Given the description of an element on the screen output the (x, y) to click on. 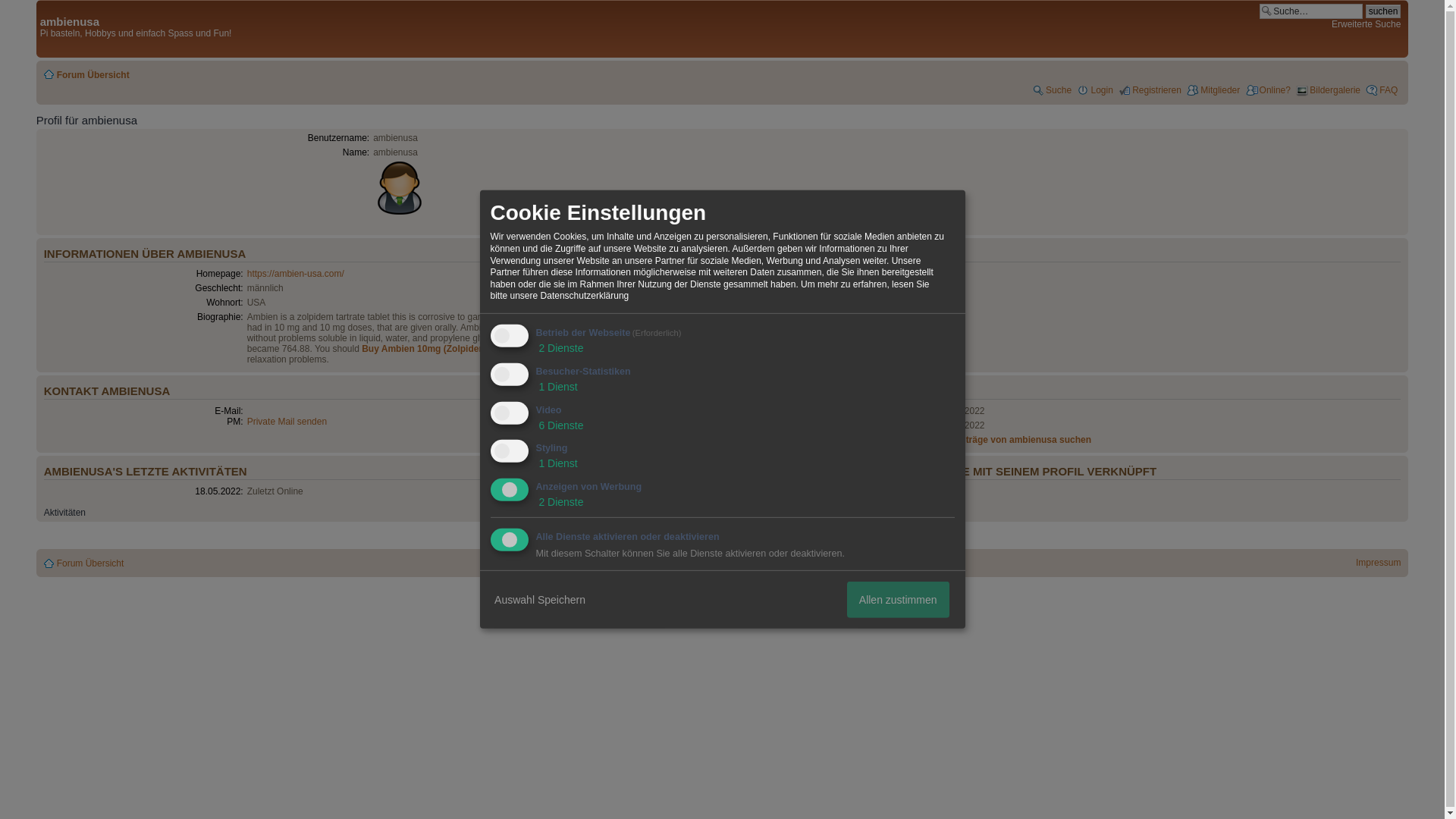
Erweiterte Suche (1366, 23)
Login (1094, 90)
Erweiterte Suche (1366, 23)
Suche (1310, 11)
Registrieren (1149, 90)
suchen (1382, 11)
1 Dienst (555, 386)
1 Dienst (555, 463)
Melden Sie sich an (643, 540)
Erstelle ein eigenes Forum mit Xobor (728, 588)
Impressum (1377, 562)
Bildergalerie (1327, 90)
Suche (1051, 90)
2 Dienste (559, 501)
Mitglieder (1213, 90)
